Given the description of an element on the screen output the (x, y) to click on. 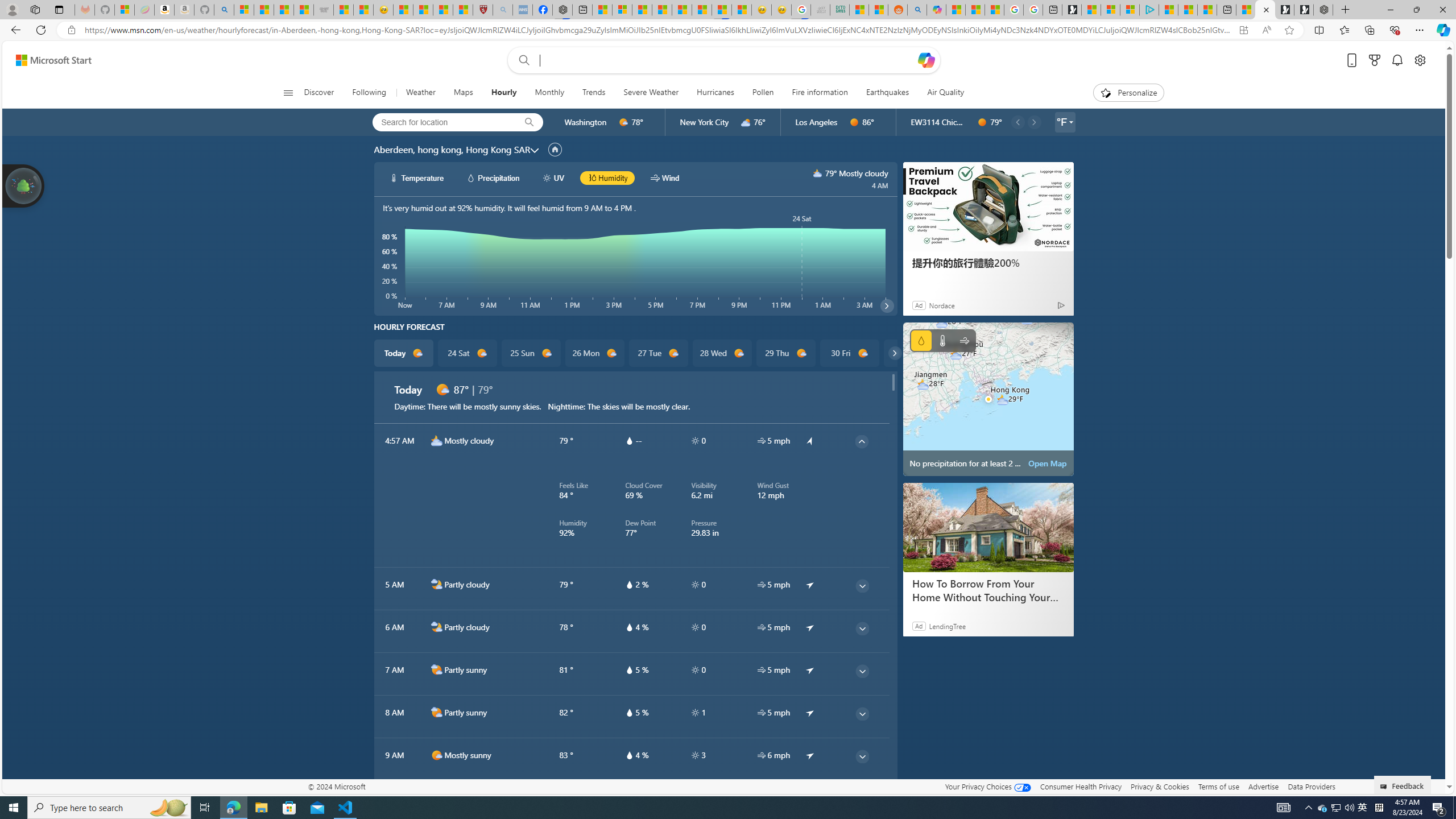
d1000 (436, 797)
hourlyChart/uvWhite (546, 177)
Earthquakes (887, 92)
App available. Install Microsoft Start Weather (1243, 29)
Terms of use (1218, 786)
